Given the description of an element on the screen output the (x, y) to click on. 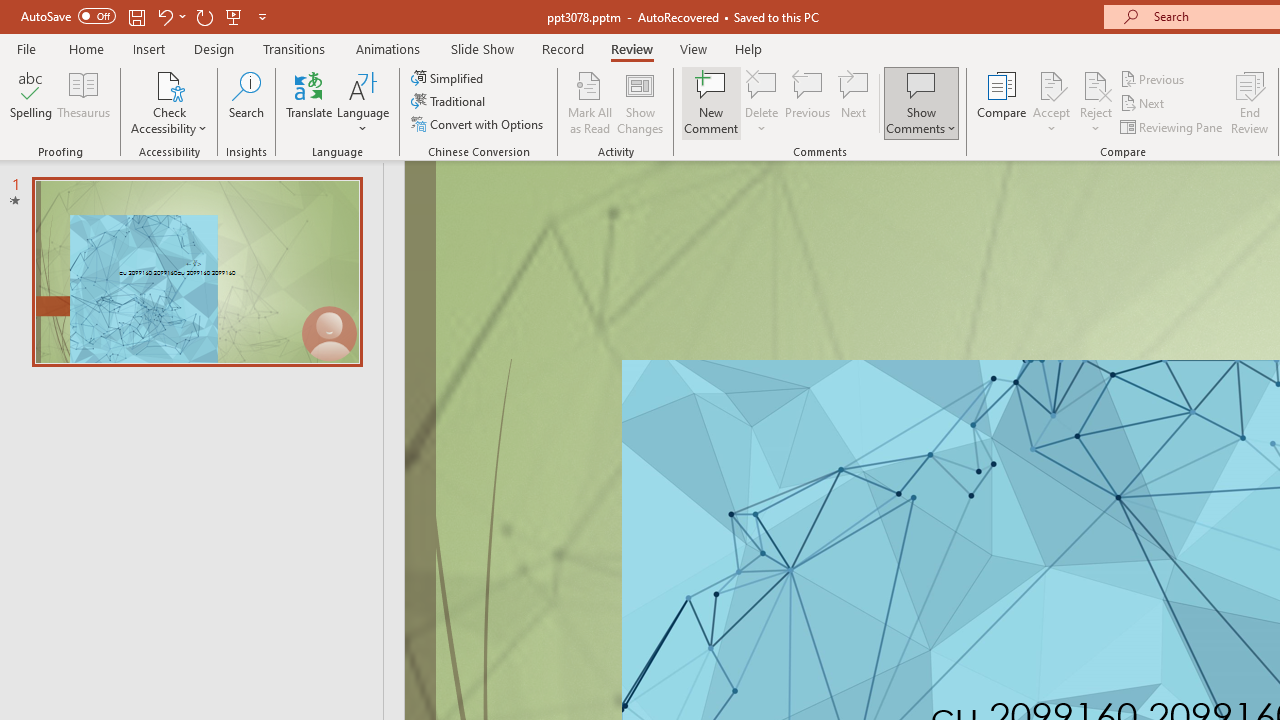
Thesaurus... (83, 102)
New Comment (711, 102)
Mark All as Read (589, 102)
Traditional (449, 101)
End Review (1249, 102)
Accept (1051, 102)
Compare (1002, 102)
